Given the description of an element on the screen output the (x, y) to click on. 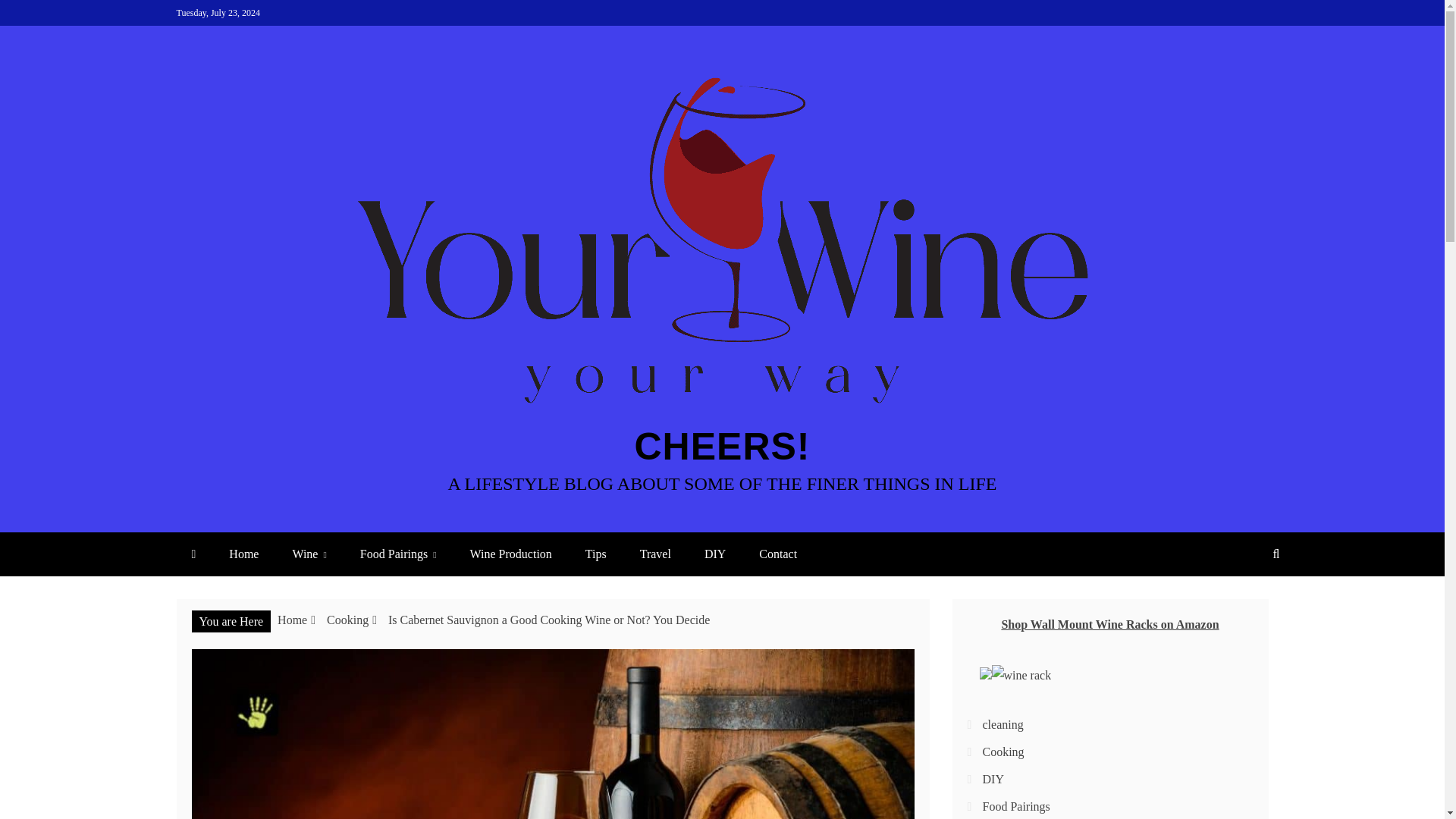
DIY (714, 553)
Travel (654, 553)
Home (243, 553)
Cooking (347, 619)
Wine (308, 553)
Wine Production (510, 553)
CHEERS! (721, 446)
Home (292, 619)
Food Pairings (398, 553)
Tips (595, 553)
Contact (778, 553)
